Given the description of an element on the screen output the (x, y) to click on. 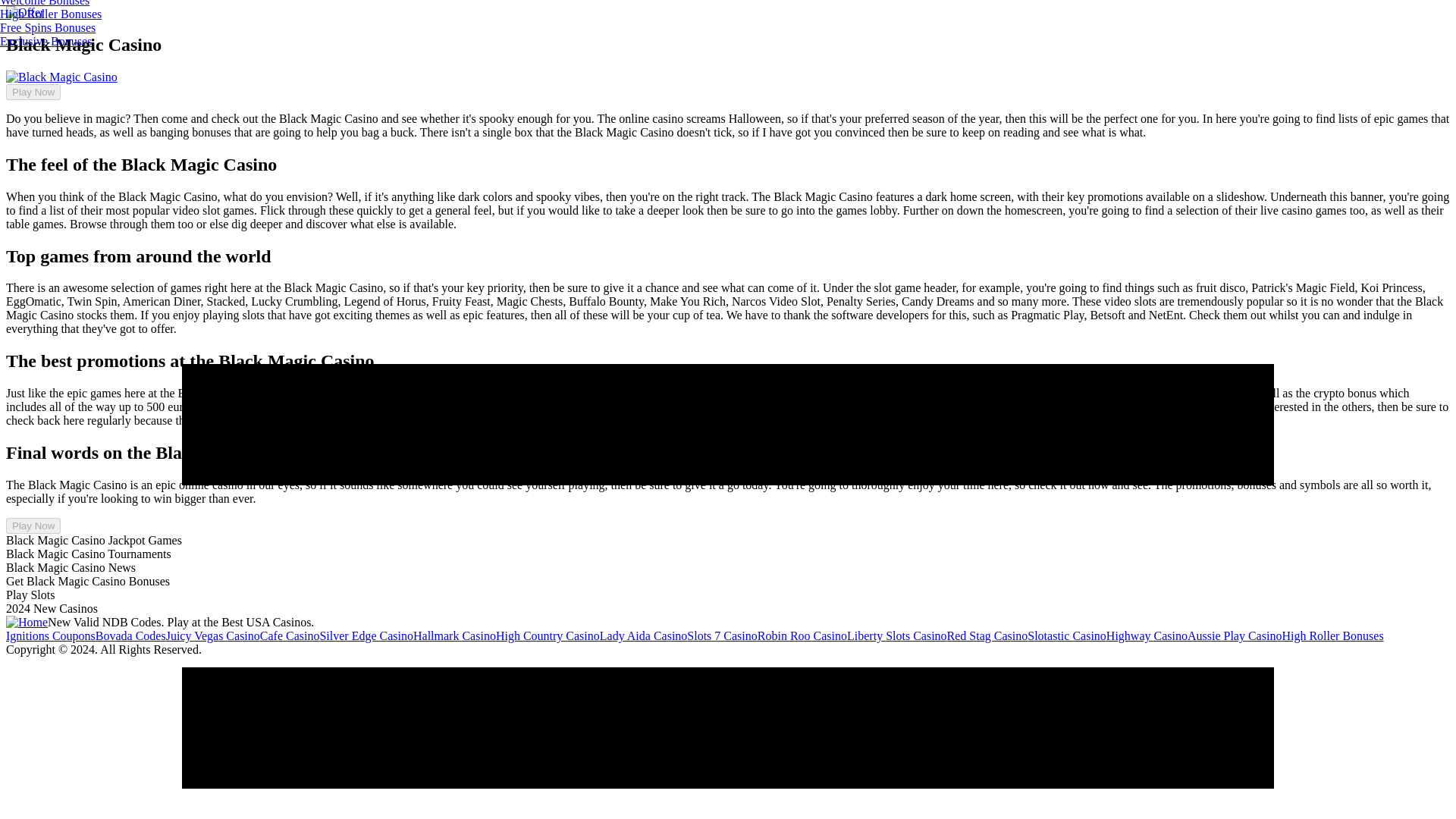
High Roller Bonuses (1332, 635)
Hallmark Casino (454, 635)
Play Now (33, 91)
Red Stag Casino (987, 635)
Juicy Vegas Casino (212, 635)
Lady Aida Casino (643, 635)
Highway Casino (1147, 635)
Aussie Play Casino (1234, 635)
Ignitions Coupons (50, 635)
Liberty Slots Casino (897, 635)
Slotastic Casino (1066, 635)
Bovada Codes (130, 635)
High Country Casino (547, 635)
Slots 7 Casino (722, 635)
Play Now (33, 525)
